Given the description of an element on the screen output the (x, y) to click on. 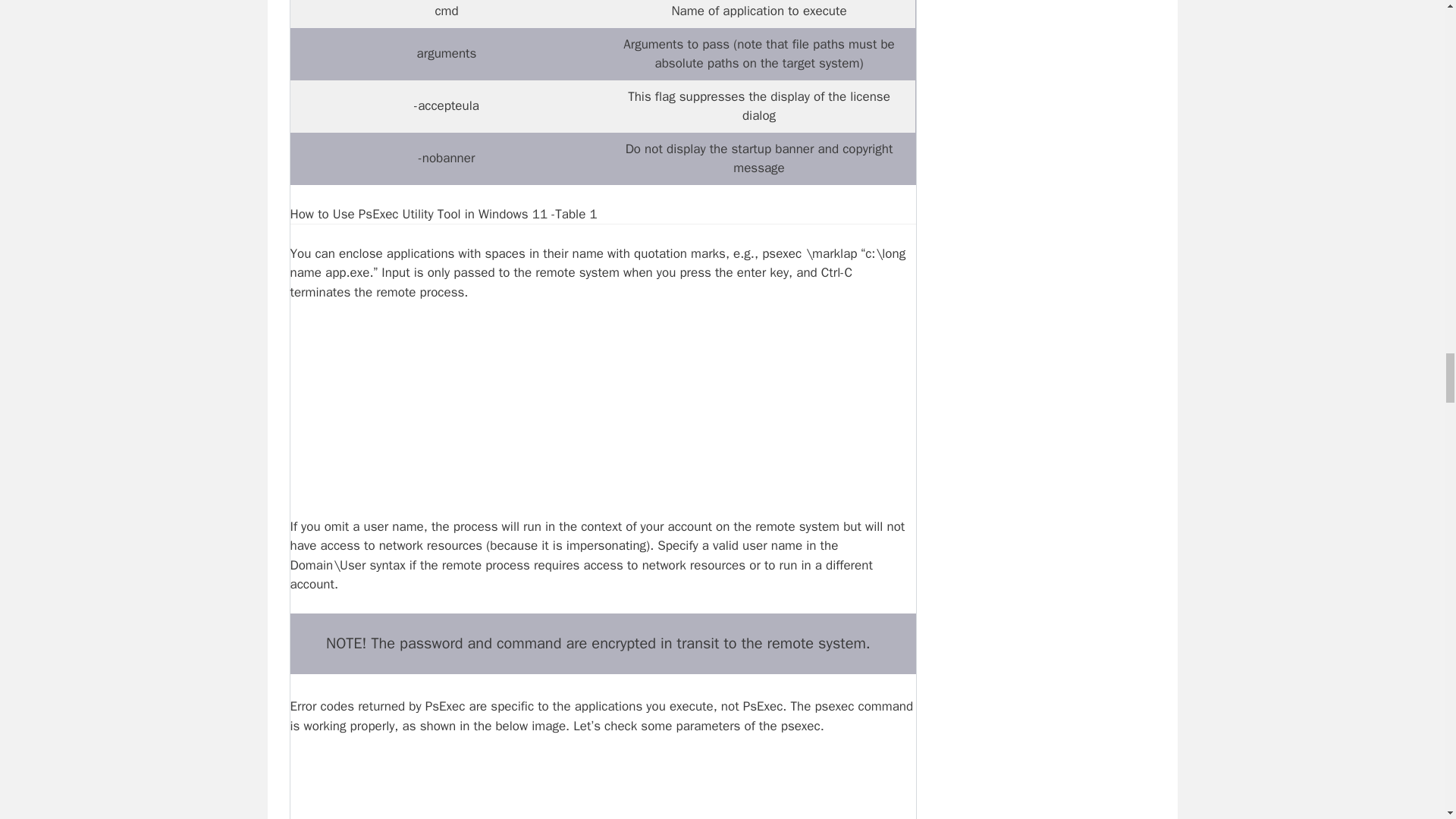
How to Use PsExec Utility Tool in Windows 11 6 (602, 787)
